Given the description of an element on the screen output the (x, y) to click on. 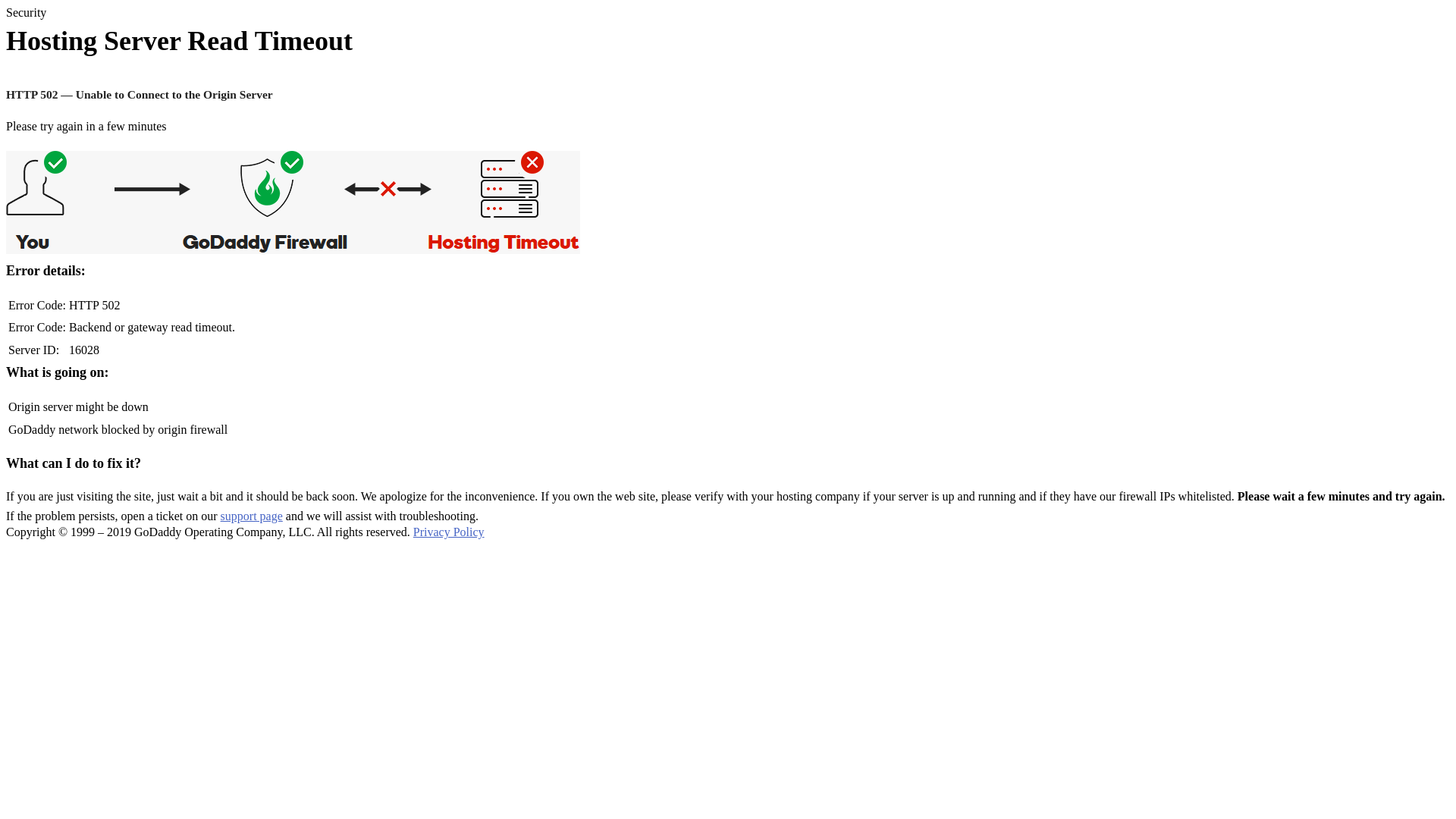
Privacy Policy Element type: text (448, 531)
support page Element type: text (251, 515)
